Given the description of an element on the screen output the (x, y) to click on. 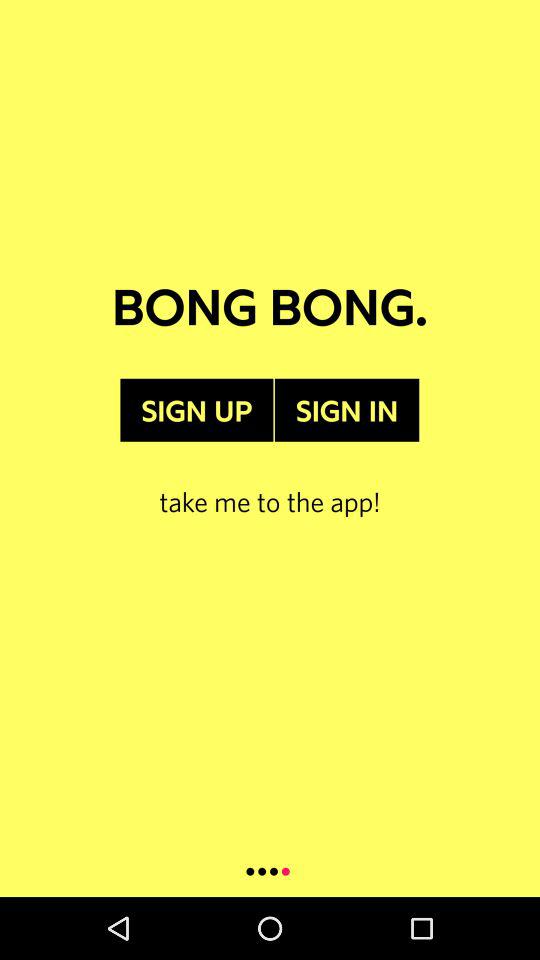
launch item below the bong bong. item (346, 409)
